Given the description of an element on the screen output the (x, y) to click on. 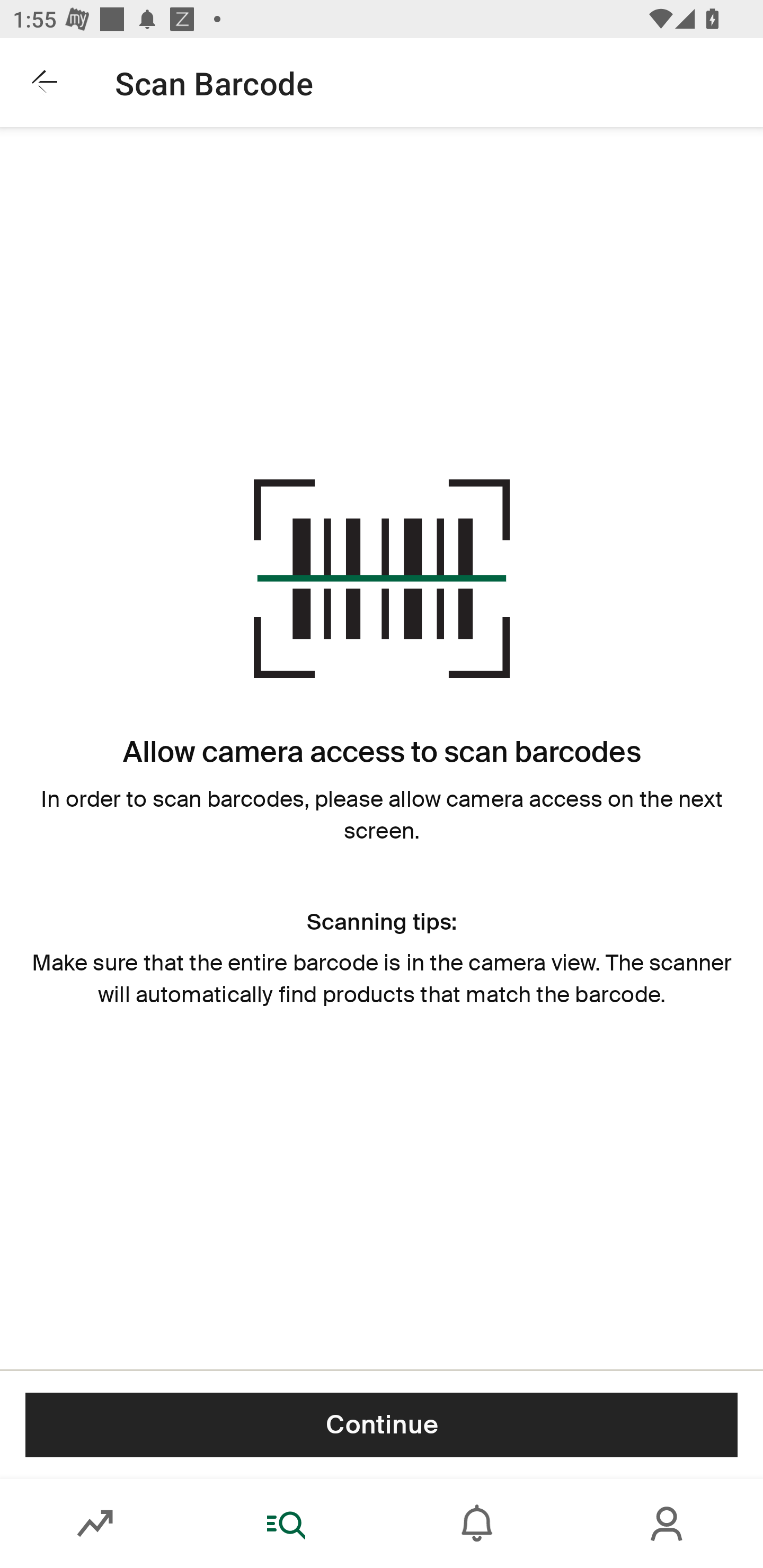
puma (370, 82)
Continue (381, 1424)
Market (95, 1523)
Inbox (476, 1523)
Account (667, 1523)
